Given the description of an element on the screen output the (x, y) to click on. 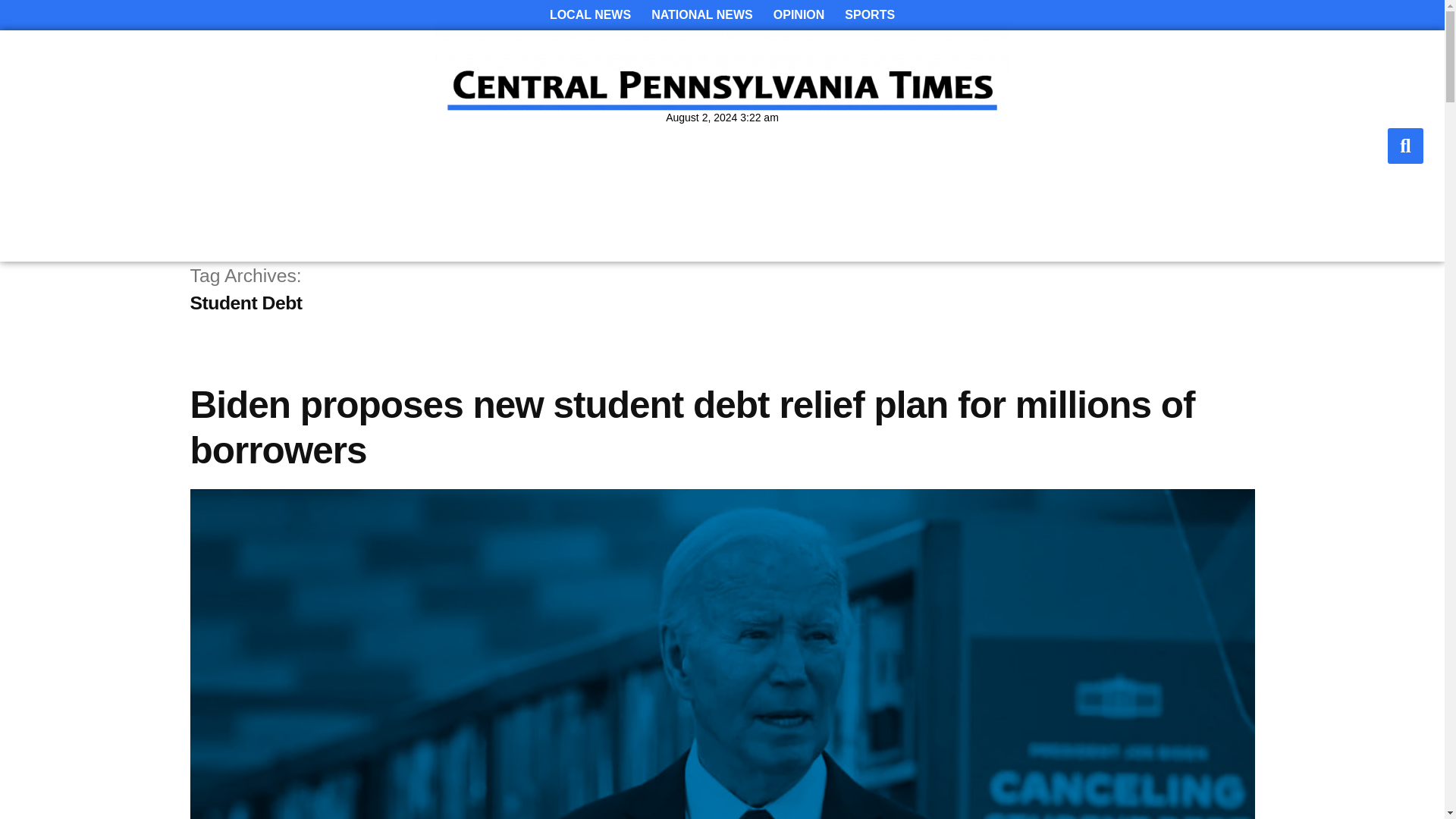
NATIONAL NEWS (701, 15)
SPORTS (869, 15)
LOCAL NEWS (590, 15)
OPINION (798, 15)
